Given the description of an element on the screen output the (x, y) to click on. 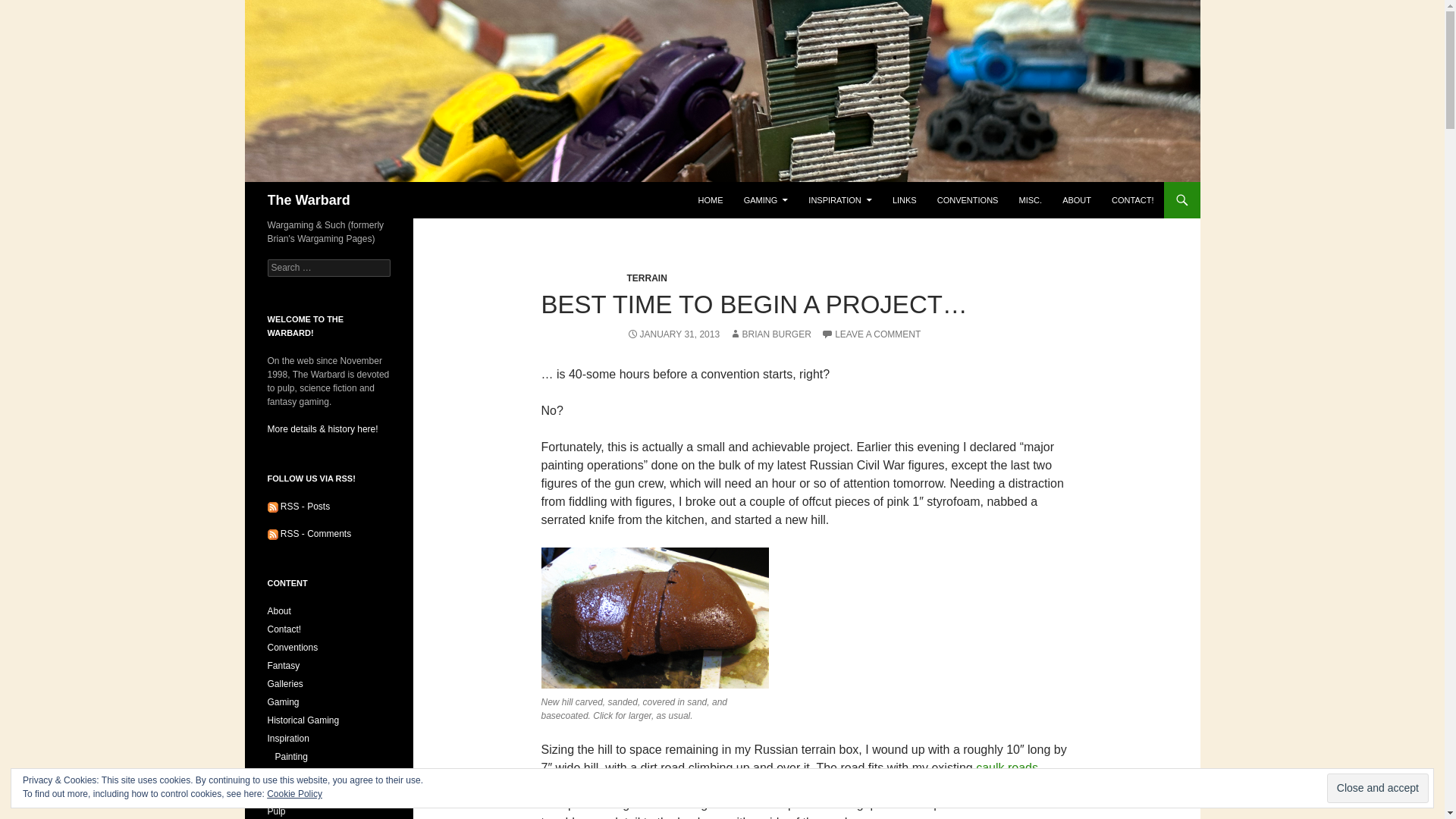
Subscribe to comments (308, 533)
CONTACT! (1131, 199)
HOME (710, 199)
TERRAIN (646, 277)
GAMING (766, 199)
BRIAN BURGER (769, 334)
caulk roads (1006, 767)
MISC. (1030, 199)
INSPIRATION (839, 199)
ABOUT (1076, 199)
Dirt Roads from Caulking (1006, 767)
LEAVE A COMMENT (870, 334)
Close and accept (1377, 788)
